Given the description of an element on the screen output the (x, y) to click on. 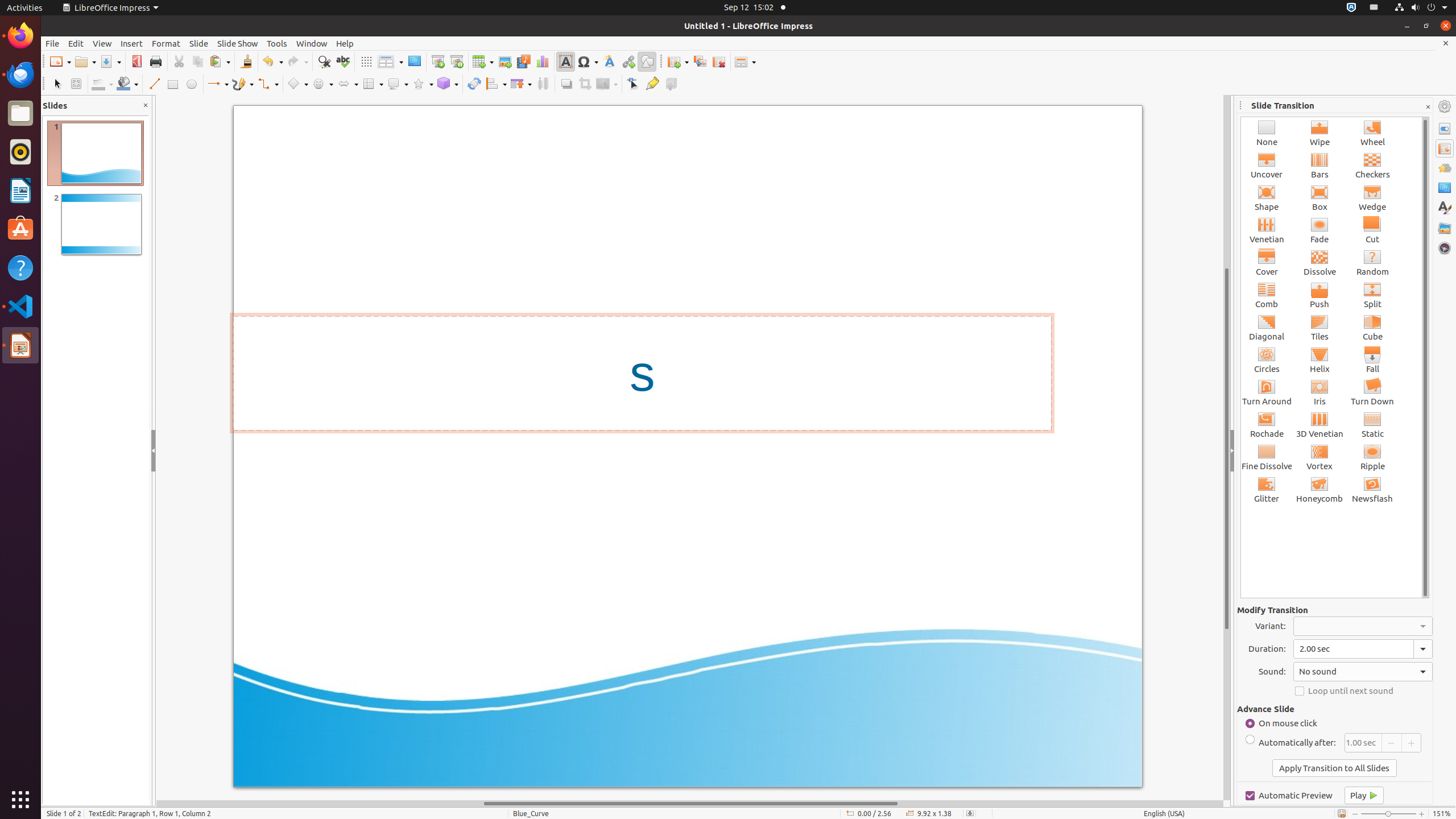
Clone Element type: push-button (245, 61)
Fall Element type: list-item (1372, 359)
Redo Element type: push-button (296, 61)
Cut Element type: push-button (178, 61)
Wheel Element type: list-item (1372, 132)
